Given the description of an element on the screen output the (x, y) to click on. 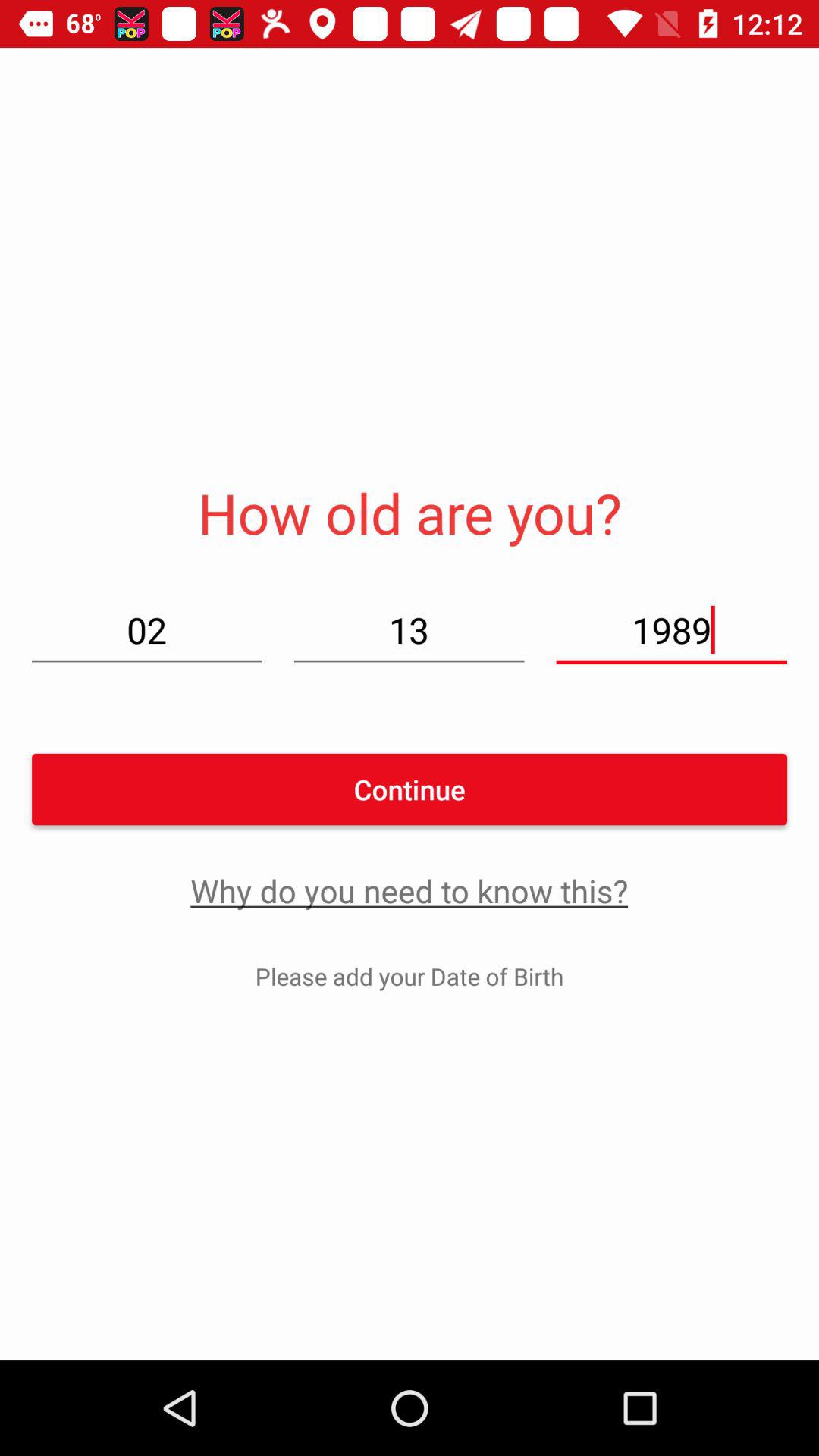
tap icon to the left of 1989 (409, 629)
